Given the description of an element on the screen output the (x, y) to click on. 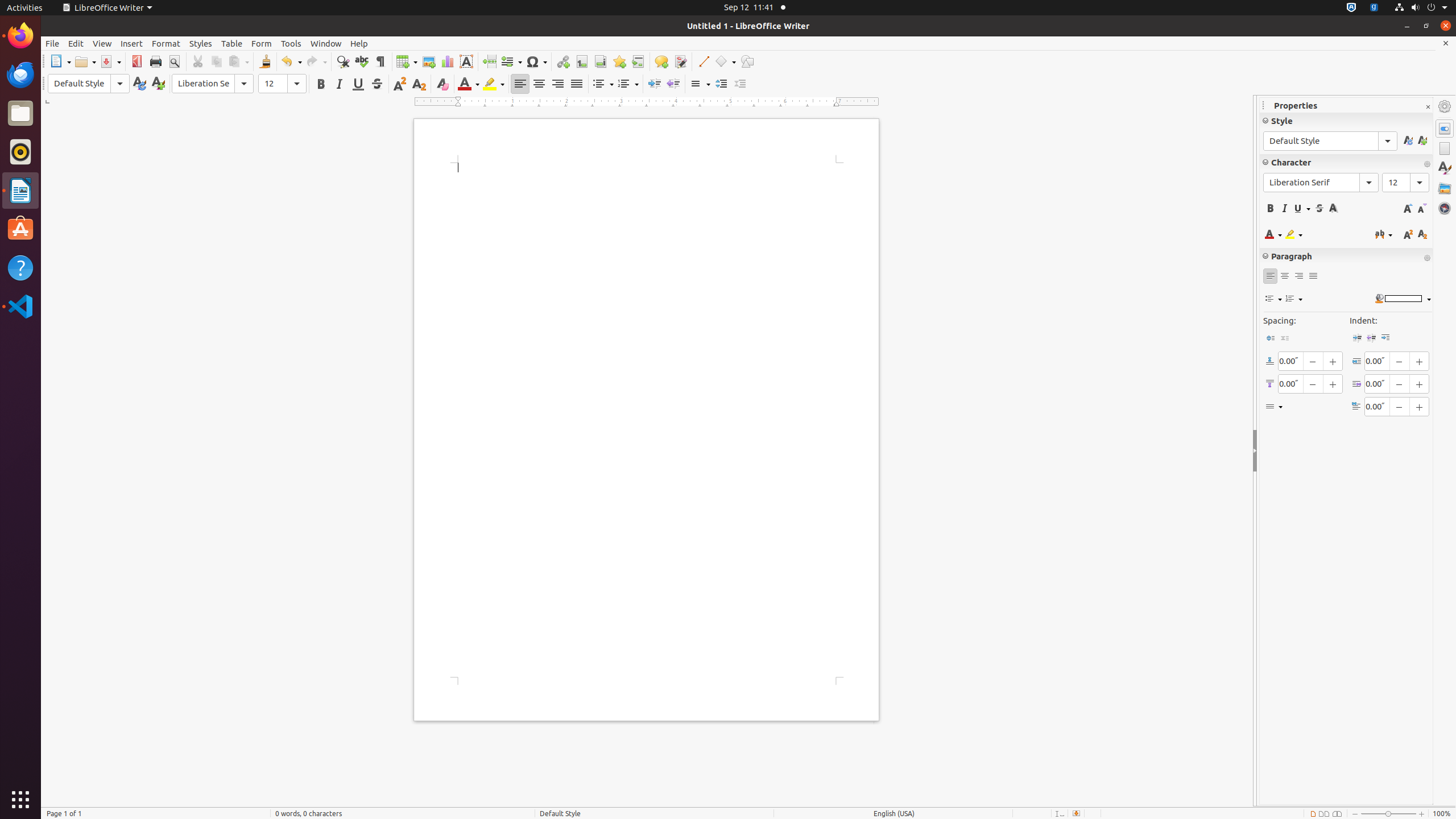
Cross-reference Element type: push-button (637, 61)
Italic Element type: toggle-button (338, 83)
Track Changes Functions Element type: toggle-button (679, 61)
PDF Element type: push-button (136, 61)
Copy Element type: push-button (216, 61)
